Given the description of an element on the screen output the (x, y) to click on. 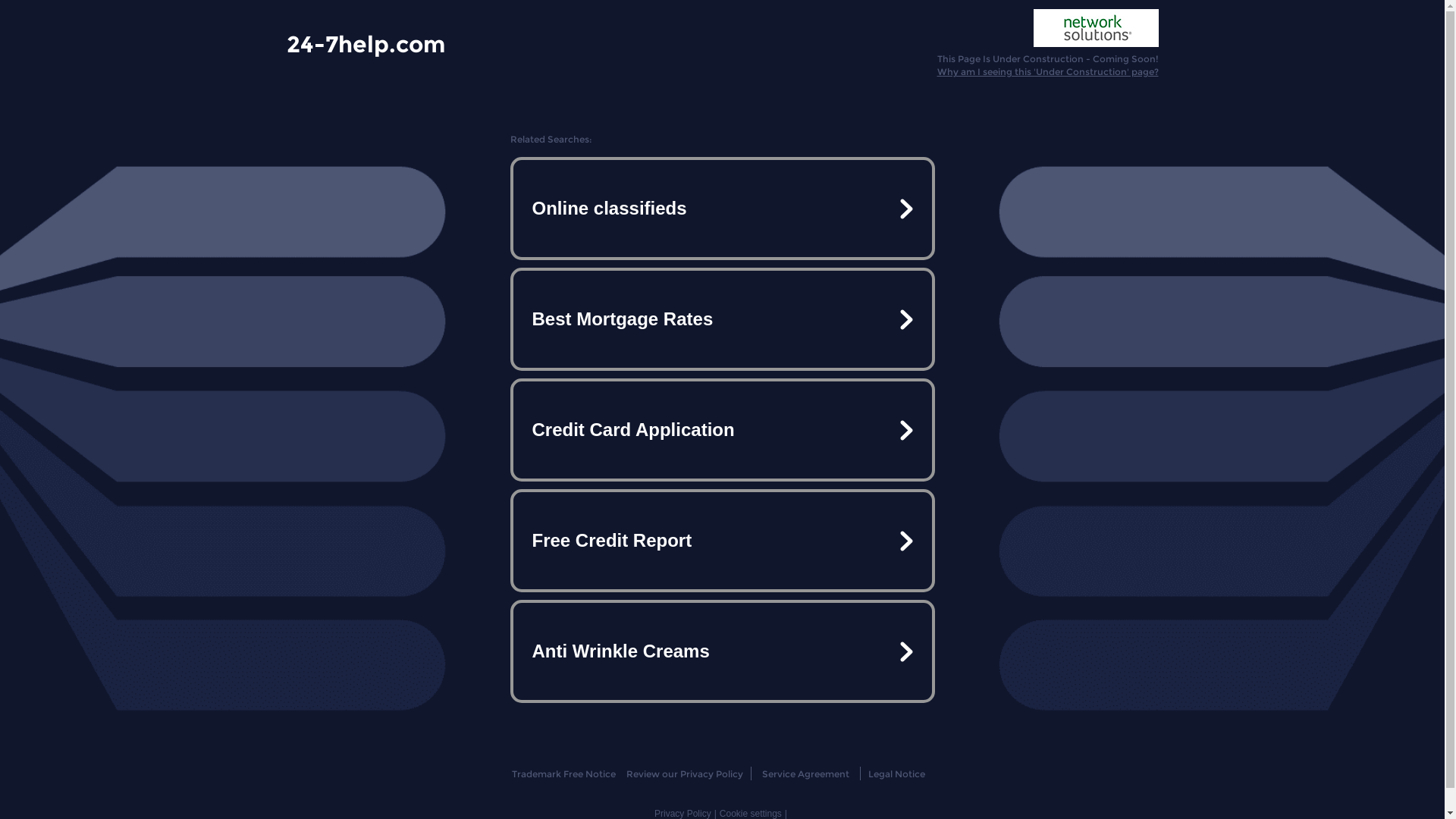
Credit Card Application Element type: text (721, 429)
24-7help.com Element type: text (365, 43)
Service Agreement Element type: text (805, 773)
Online classifieds Element type: text (721, 208)
Review our Privacy Policy Element type: text (684, 773)
Why am I seeing this 'Under Construction' page? Element type: text (1047, 71)
Free Credit Report Element type: text (721, 540)
Best Mortgage Rates Element type: text (721, 318)
Legal Notice Element type: text (896, 773)
Anti Wrinkle Creams Element type: text (721, 650)
Trademark Free Notice Element type: text (563, 773)
